Given the description of an element on the screen output the (x, y) to click on. 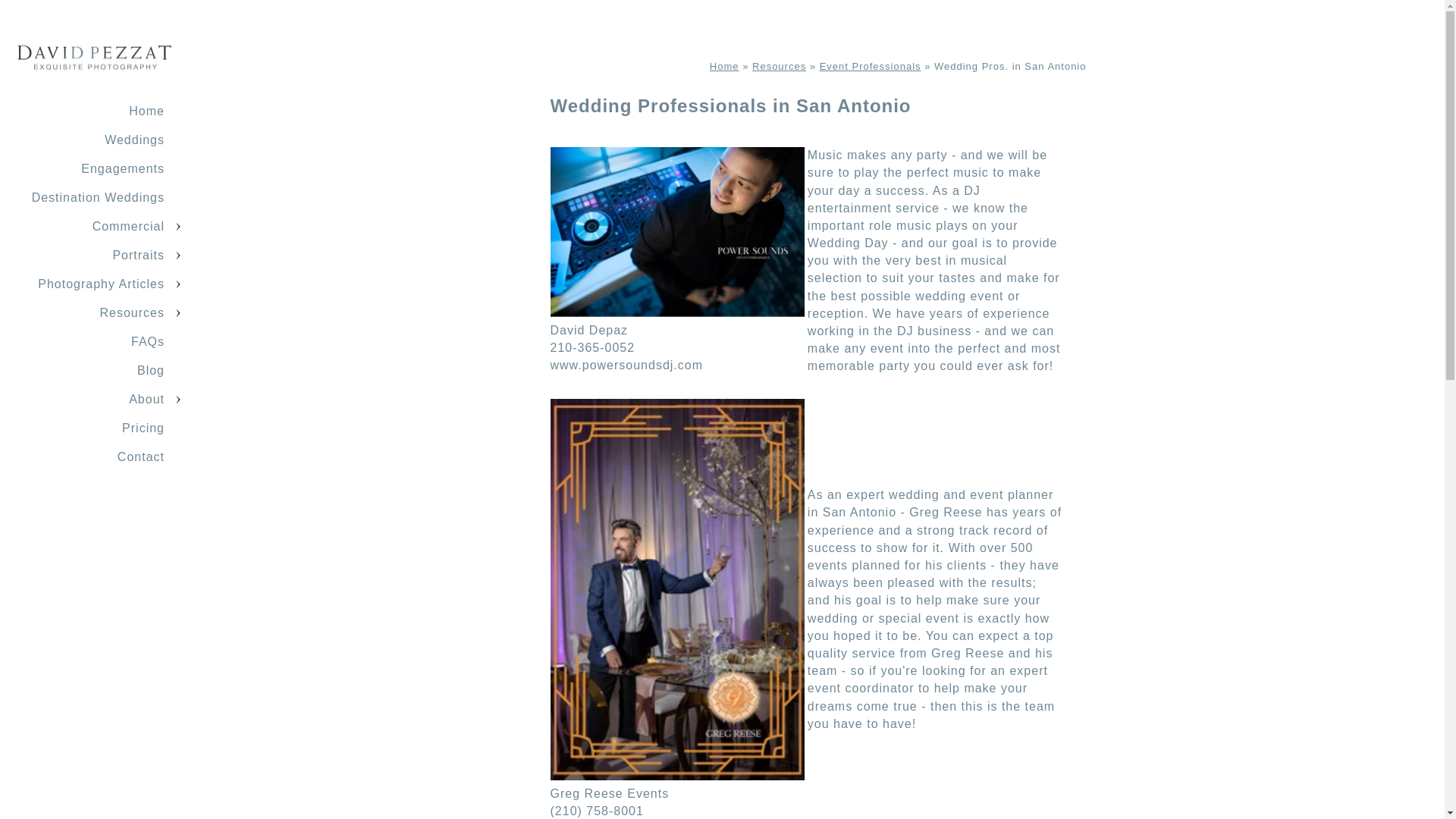
Preferred Wedding Vendors List (870, 66)
Destination Weddings (98, 196)
Commercial (128, 226)
Resources (132, 312)
Pricing (143, 427)
Home (146, 110)
Photography Articles (100, 283)
Portraits (138, 254)
Contact (140, 456)
About (146, 399)
